Given the description of an element on the screen output the (x, y) to click on. 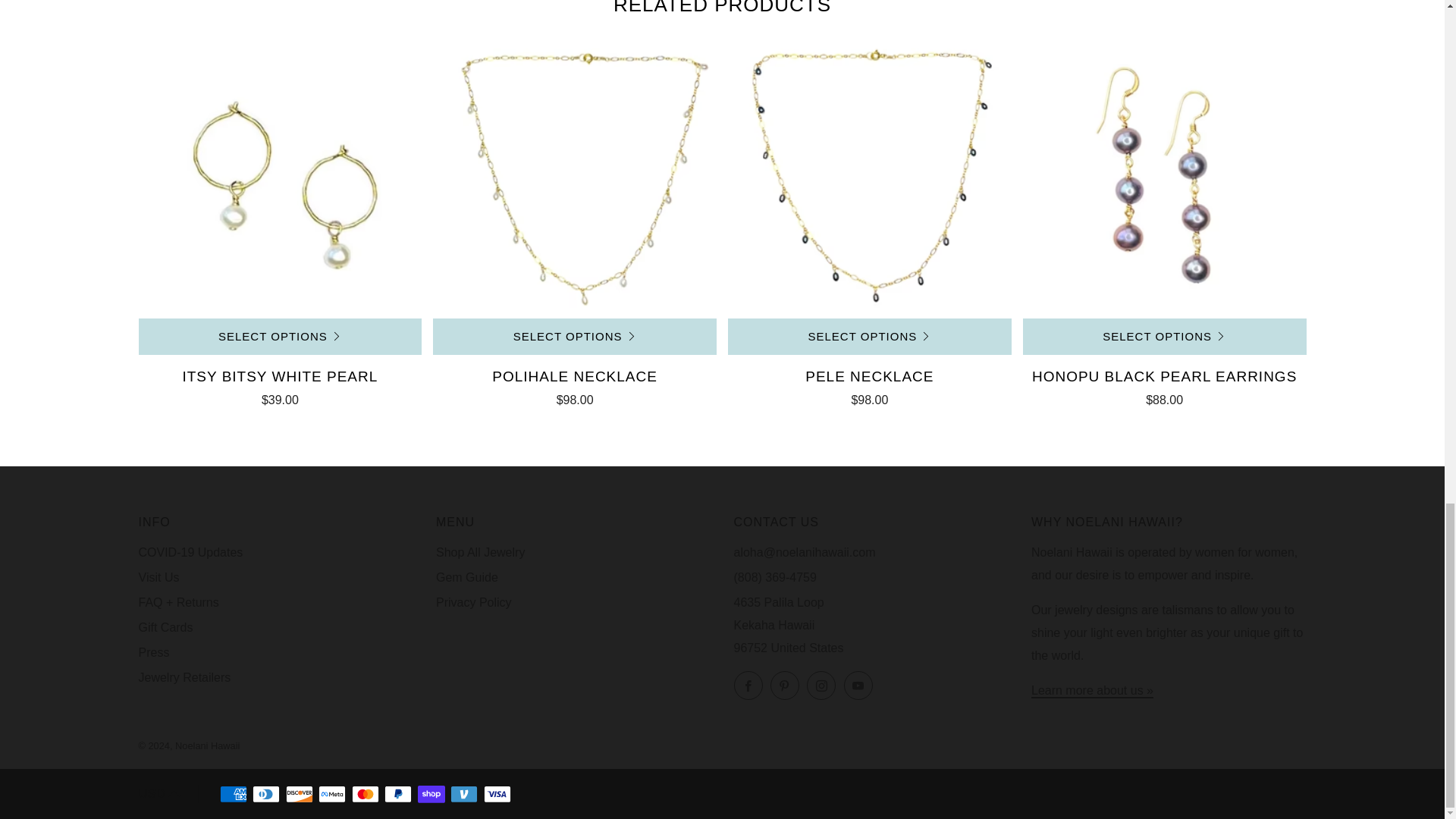
Honopu Black Pearl Earrings (1164, 384)
Itsy Bitsy White Pearl (280, 176)
Itsy Bitsy White Pearl (280, 384)
Polihale Necklace (574, 176)
Polihale Necklace (574, 384)
Pele Necklace (869, 384)
Honopu Black Pearl Earrings (1164, 176)
Pele Necklace (869, 176)
